Given the description of an element on the screen output the (x, y) to click on. 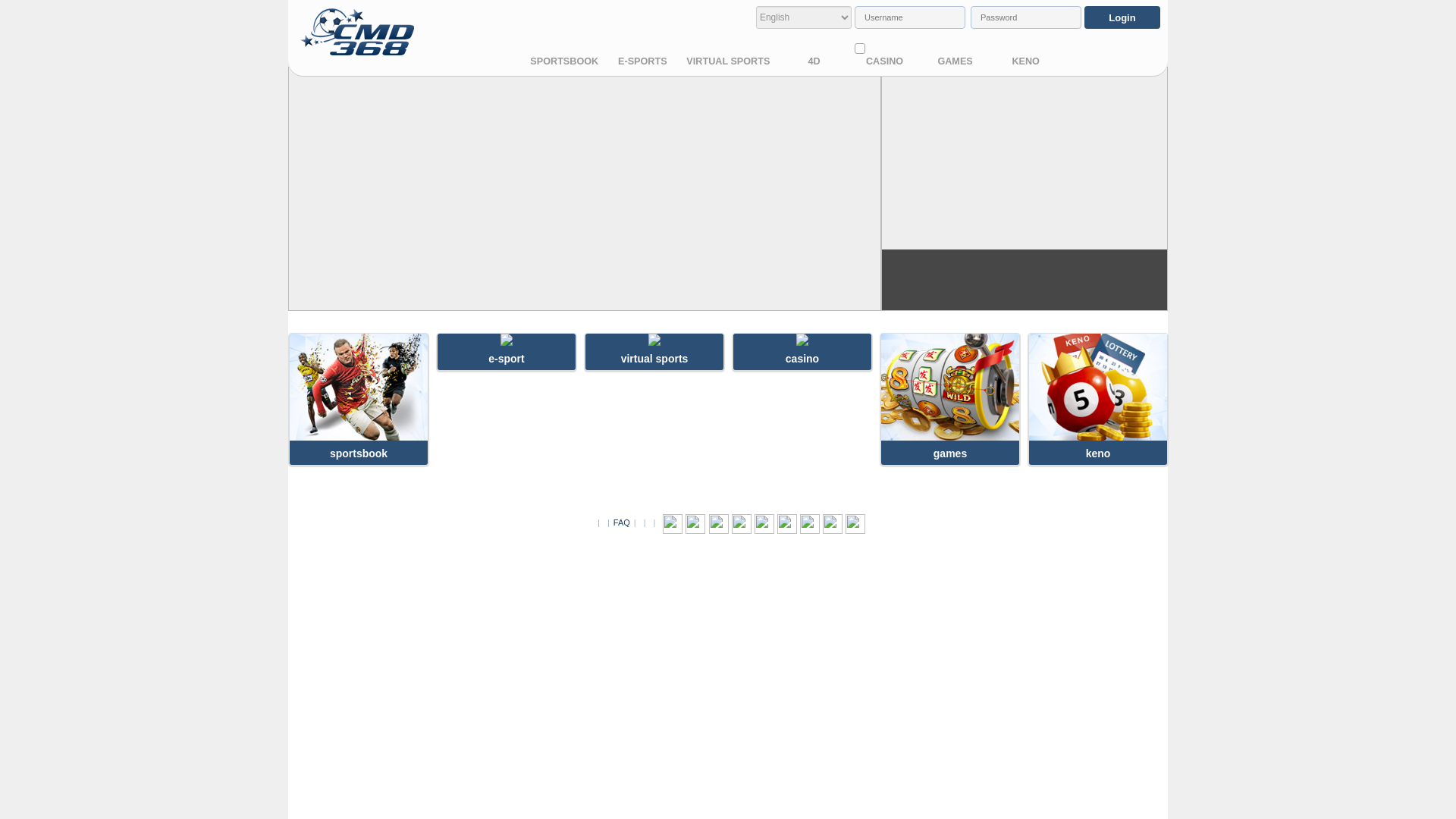
4D Element type: text (813, 61)
Login Element type: text (1122, 17)
GAMES Element type: text (955, 61)
E-SPORTS Element type: text (642, 61)
CASINO Element type: text (884, 61)
SPORTSBOOK Element type: text (563, 61)
FAQ Element type: text (621, 522)
KENO Element type: text (1025, 61)
VIRTUAL SPORTS Element type: text (727, 61)
